Given the description of an element on the screen output the (x, y) to click on. 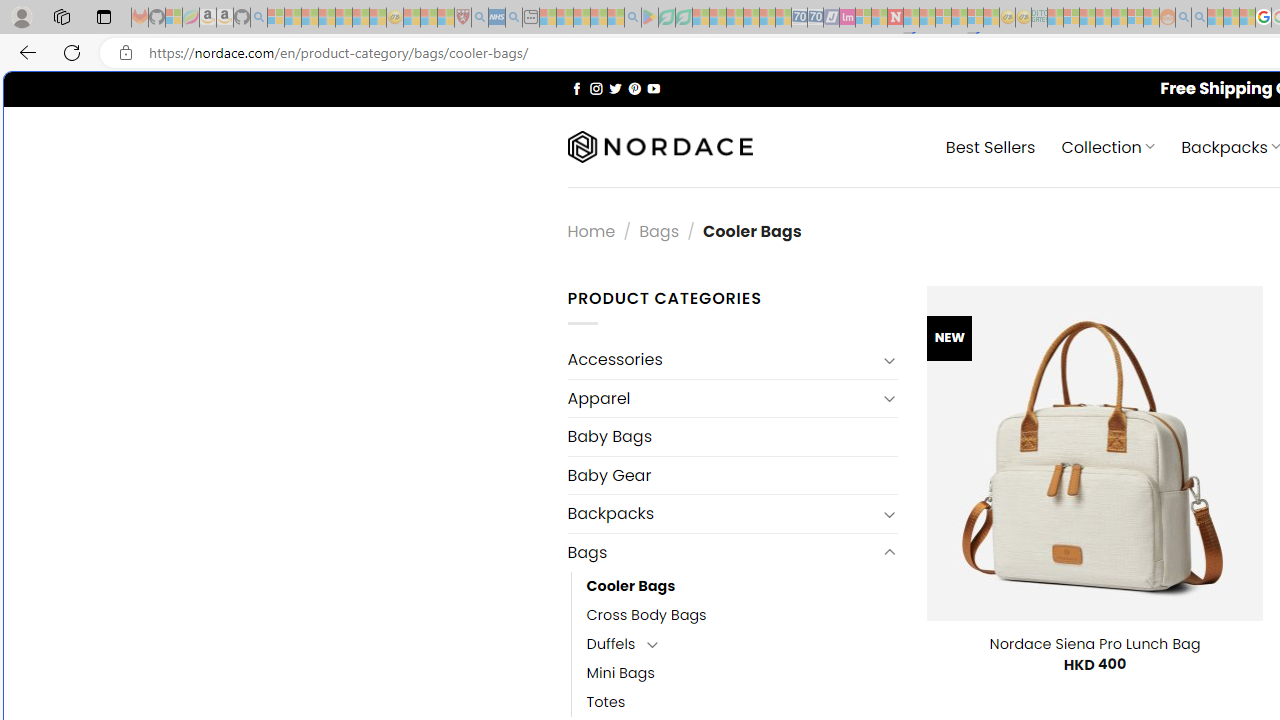
Utah sues federal government - Search - Sleeping (1199, 17)
Microsoft account | Privacy - Sleeping (1071, 17)
Expert Portfolios - Sleeping (1103, 17)
  Best Sellers (989, 146)
Follow on Pinterest (634, 88)
Latest Politics News & Archive | Newsweek.com - Sleeping (895, 17)
